Given the description of an element on the screen output the (x, y) to click on. 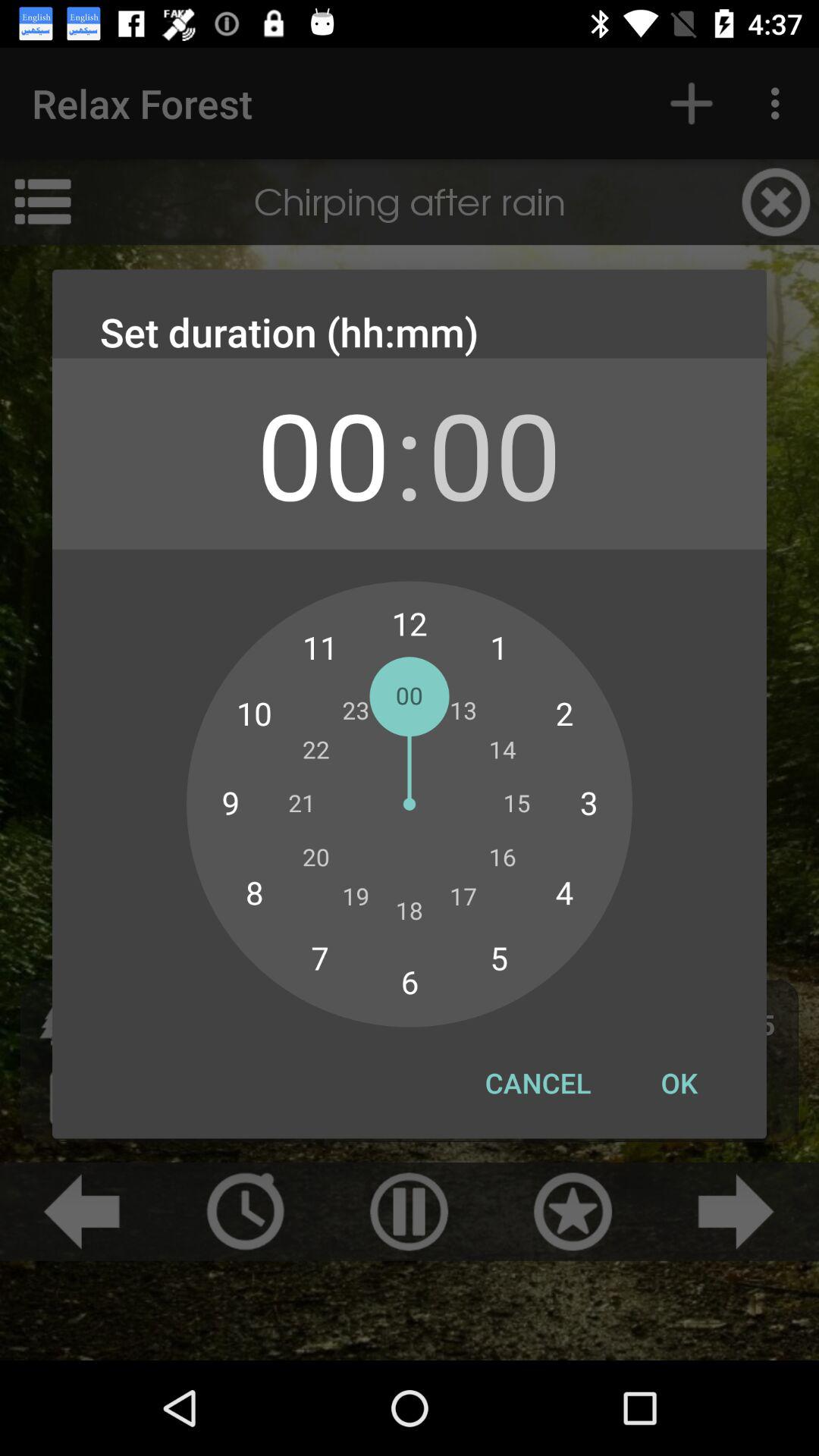
flip until the cancel icon (538, 1082)
